Given the description of an element on the screen output the (x, y) to click on. 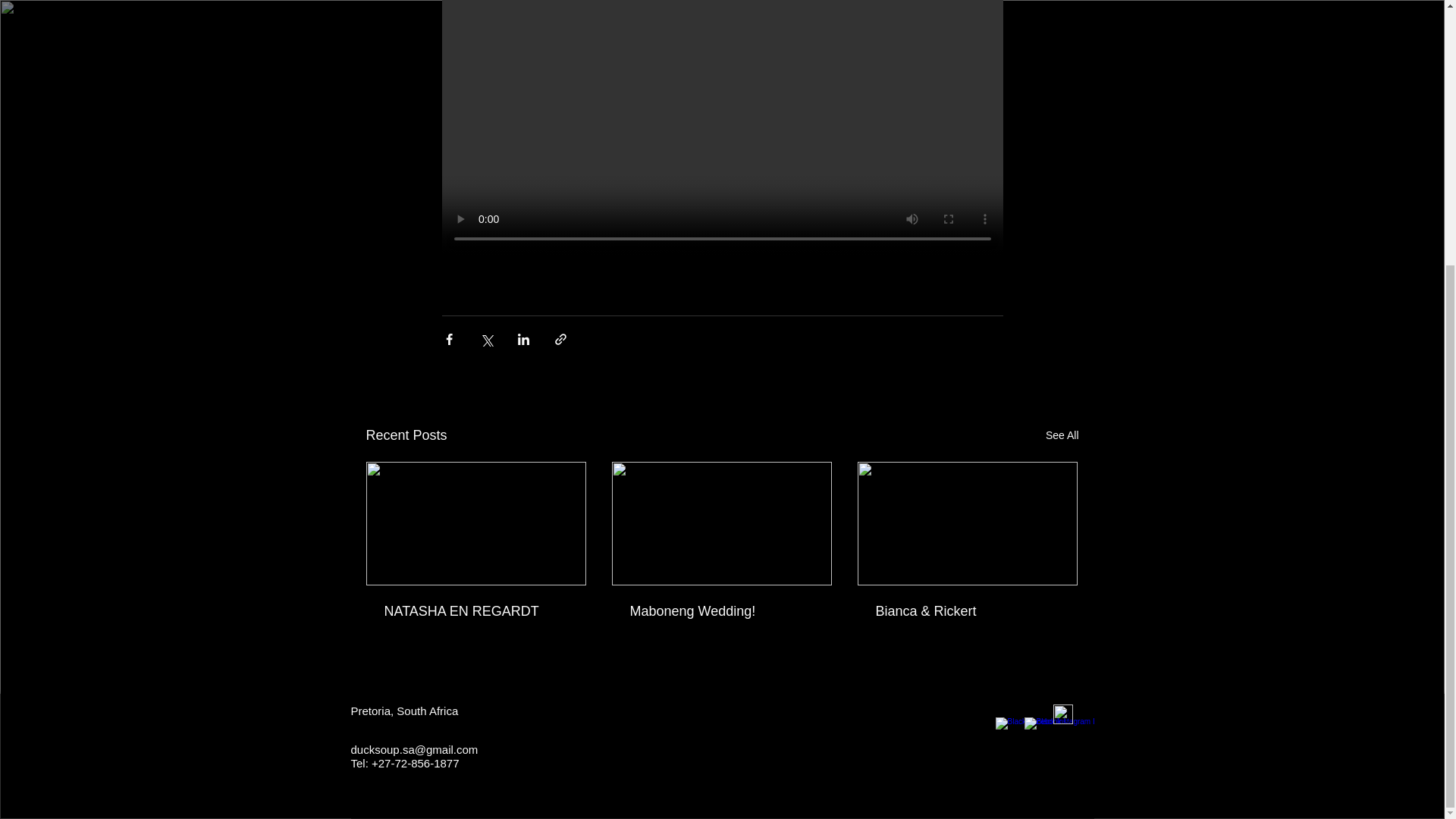
See All (1061, 435)
Maboneng Wedding! (720, 611)
NATASHA EN REGARDT (475, 611)
